Given the description of an element on the screen output the (x, y) to click on. 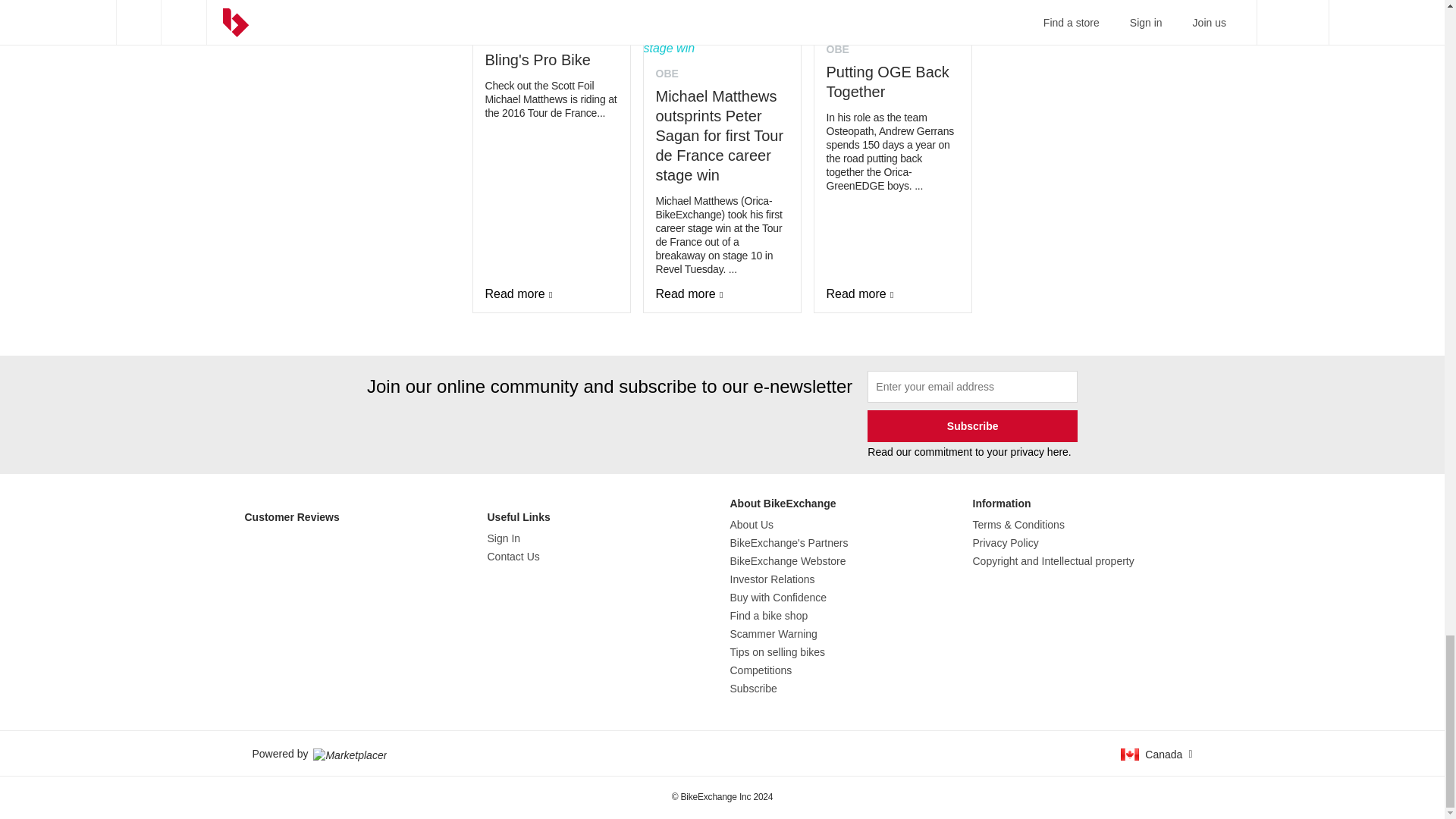
Subscribe (972, 426)
Marketplacer, www.marketplacer.com (350, 754)
